Given the description of an element on the screen output the (x, y) to click on. 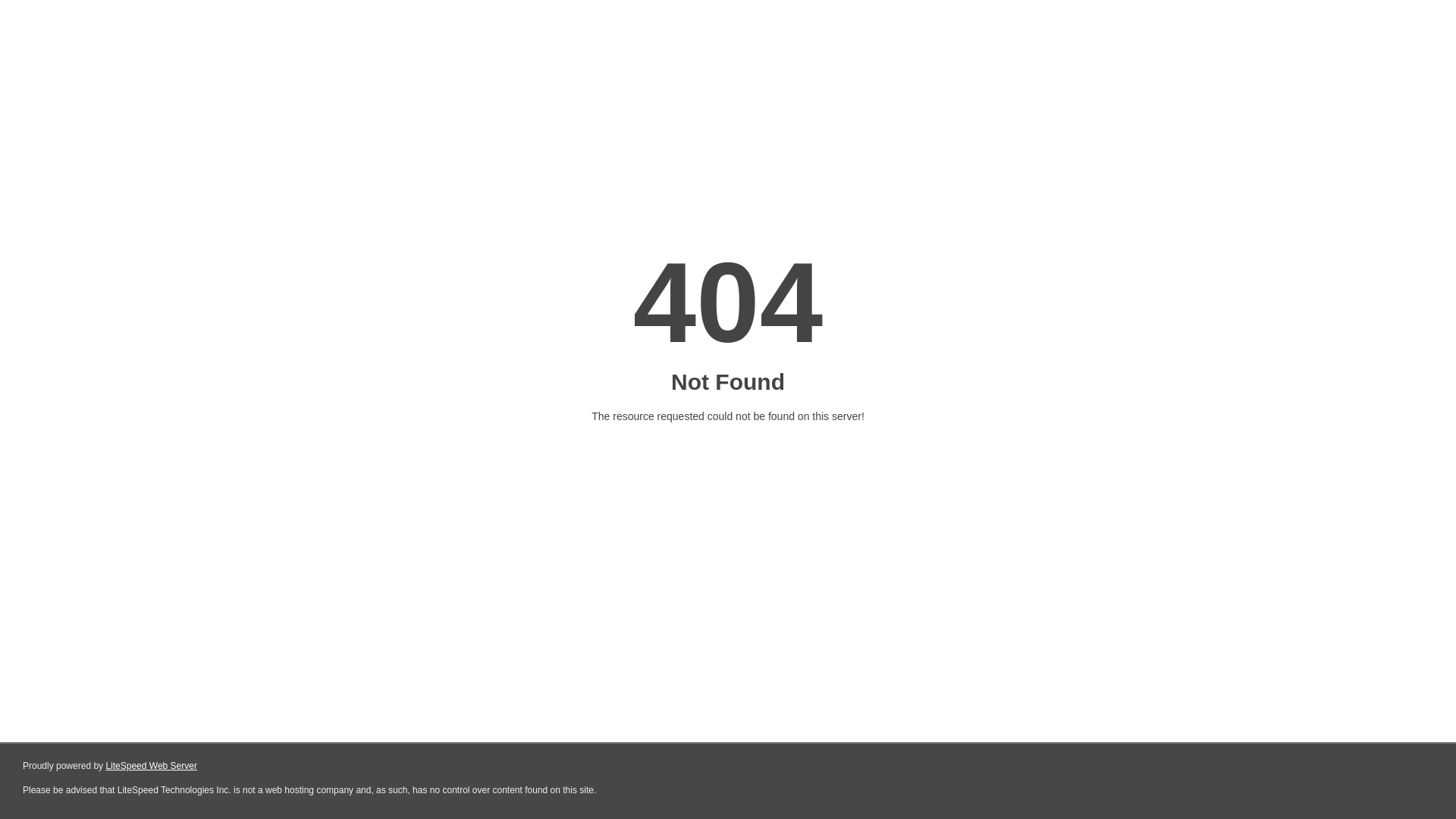
LiteSpeed Web Server Element type: text (151, 765)
